Given the description of an element on the screen output the (x, y) to click on. 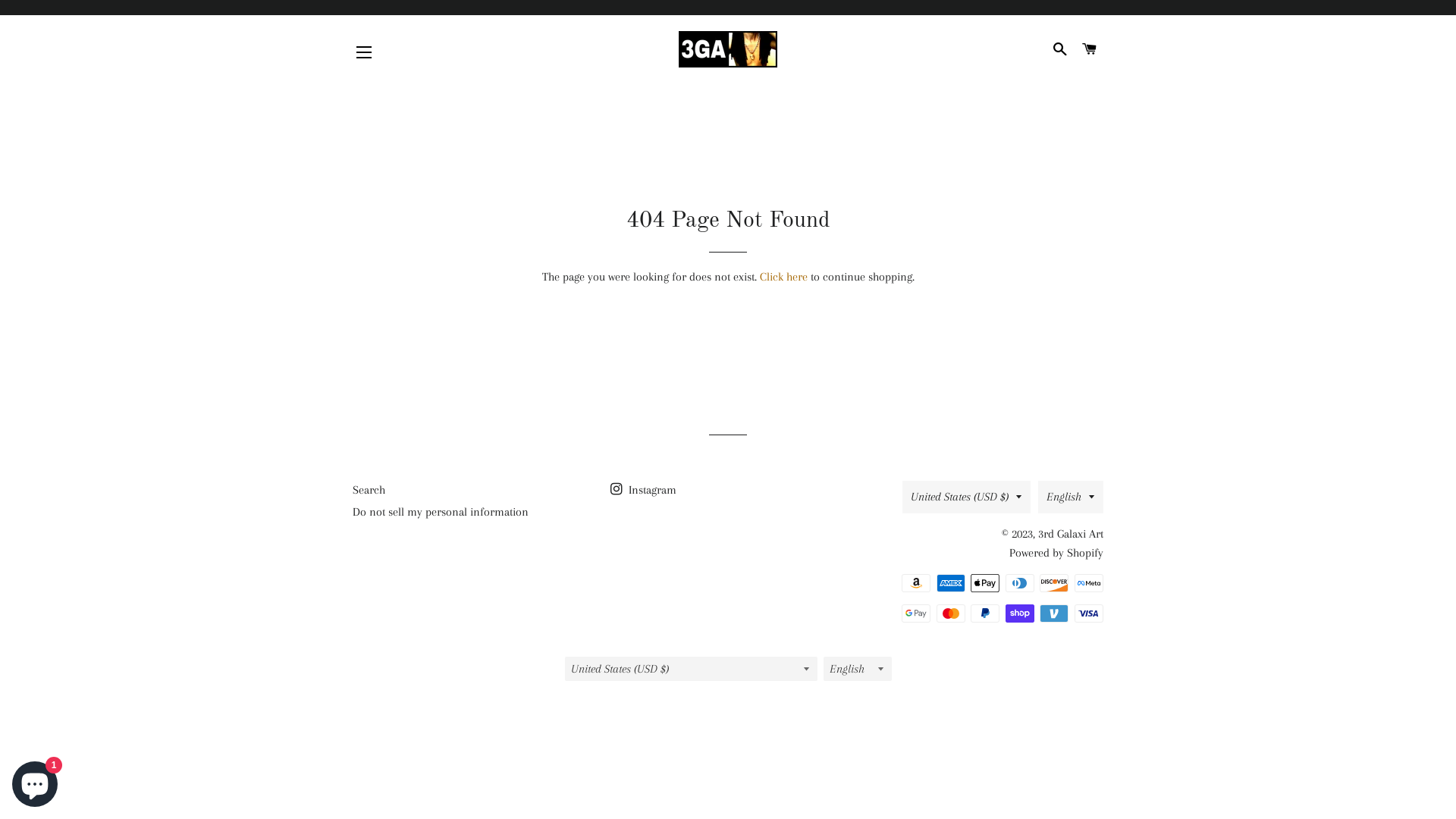
3rd Galaxi Art Element type: text (1070, 533)
United States (USD $) Element type: text (966, 496)
Shopify online store chat Element type: hover (34, 780)
Do not sell my personal information Element type: text (440, 511)
SEARCH Element type: text (1059, 49)
Click here Element type: text (783, 276)
Search Element type: text (368, 489)
Instagram Element type: text (643, 489)
CART Element type: text (1089, 49)
English Element type: text (1070, 496)
SITE NAVIGATION Element type: text (363, 52)
Powered by Shopify Element type: text (1056, 552)
